Given the description of an element on the screen output the (x, y) to click on. 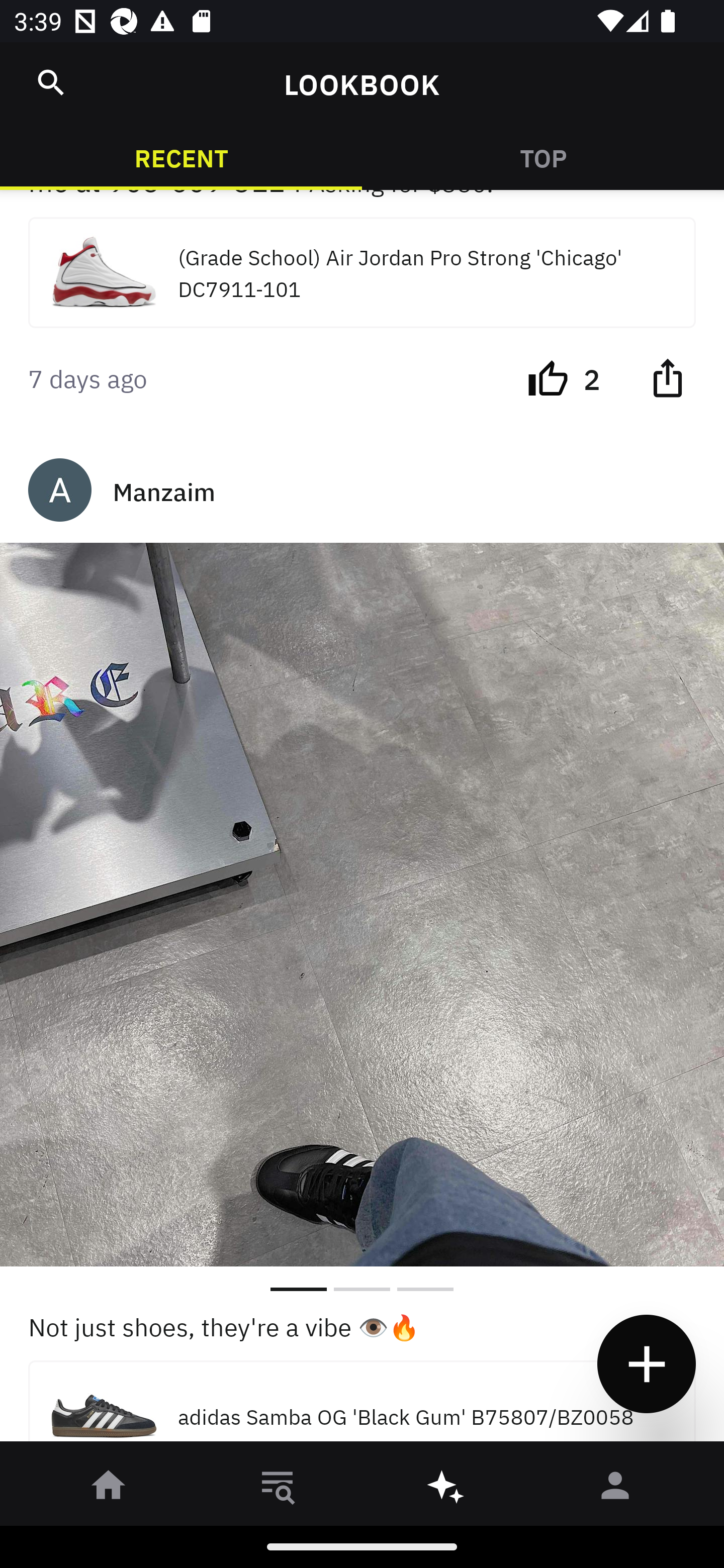
 (51, 82)
RECENT (181, 156)
TOP (543, 156)
󰔔 (547, 377)
 (667, 377)
Not just shoes, they're a vibe 👁️🔥 (362, 1325)
adidas Samba OG 'Black Gum' B75807/BZ0058 (362, 1406)
󰋜 (108, 1488)
󱎸 (277, 1488)
󰫢 (446, 1488)
󰀄 (615, 1488)
